Given the description of an element on the screen output the (x, y) to click on. 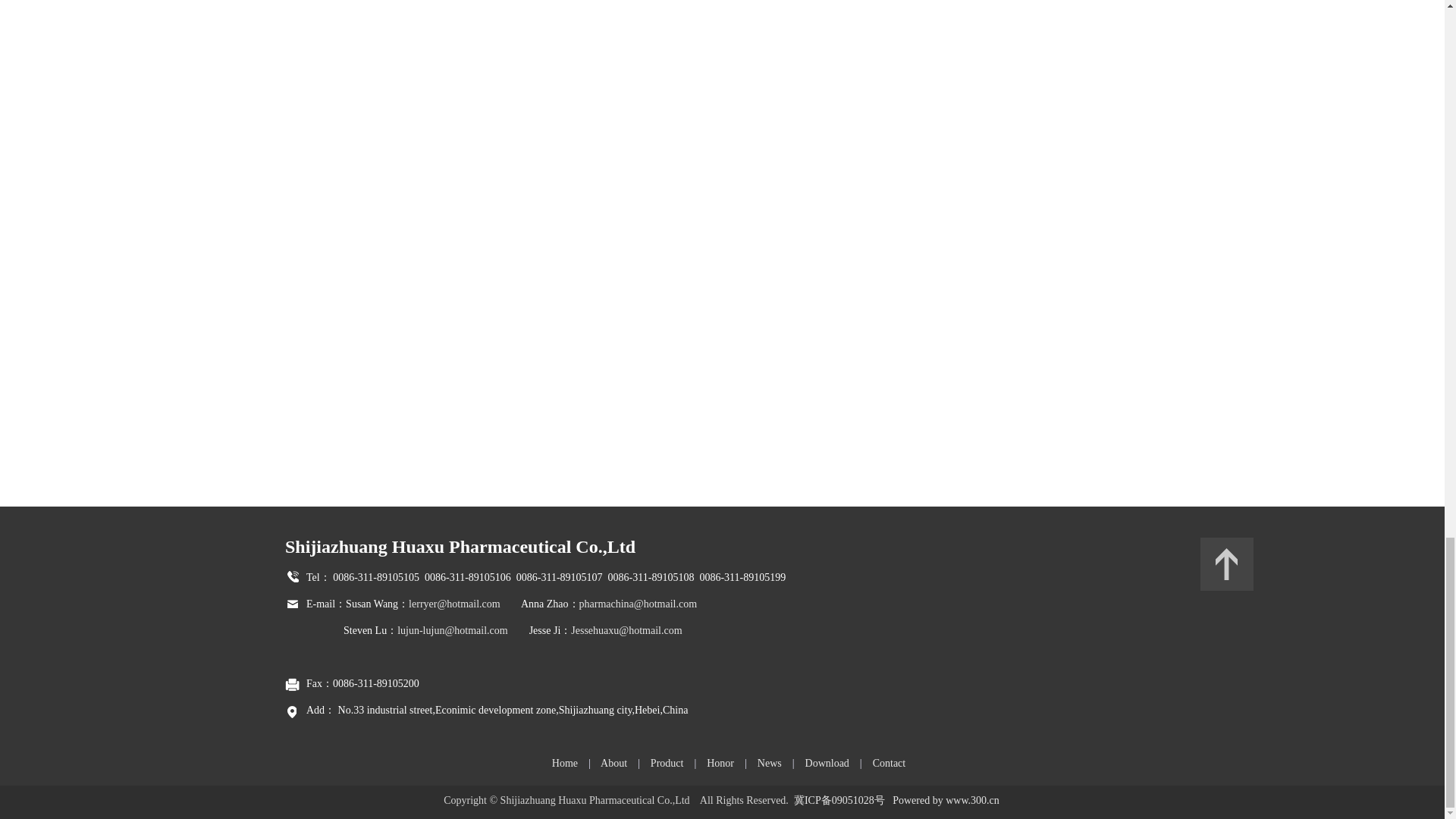
Powered by www.300.cn (945, 799)
TOP (1226, 563)
Product (667, 763)
About (613, 763)
Home (564, 763)
Contact (888, 763)
News (769, 763)
Download (826, 763)
Honor (719, 763)
